Given the description of an element on the screen output the (x, y) to click on. 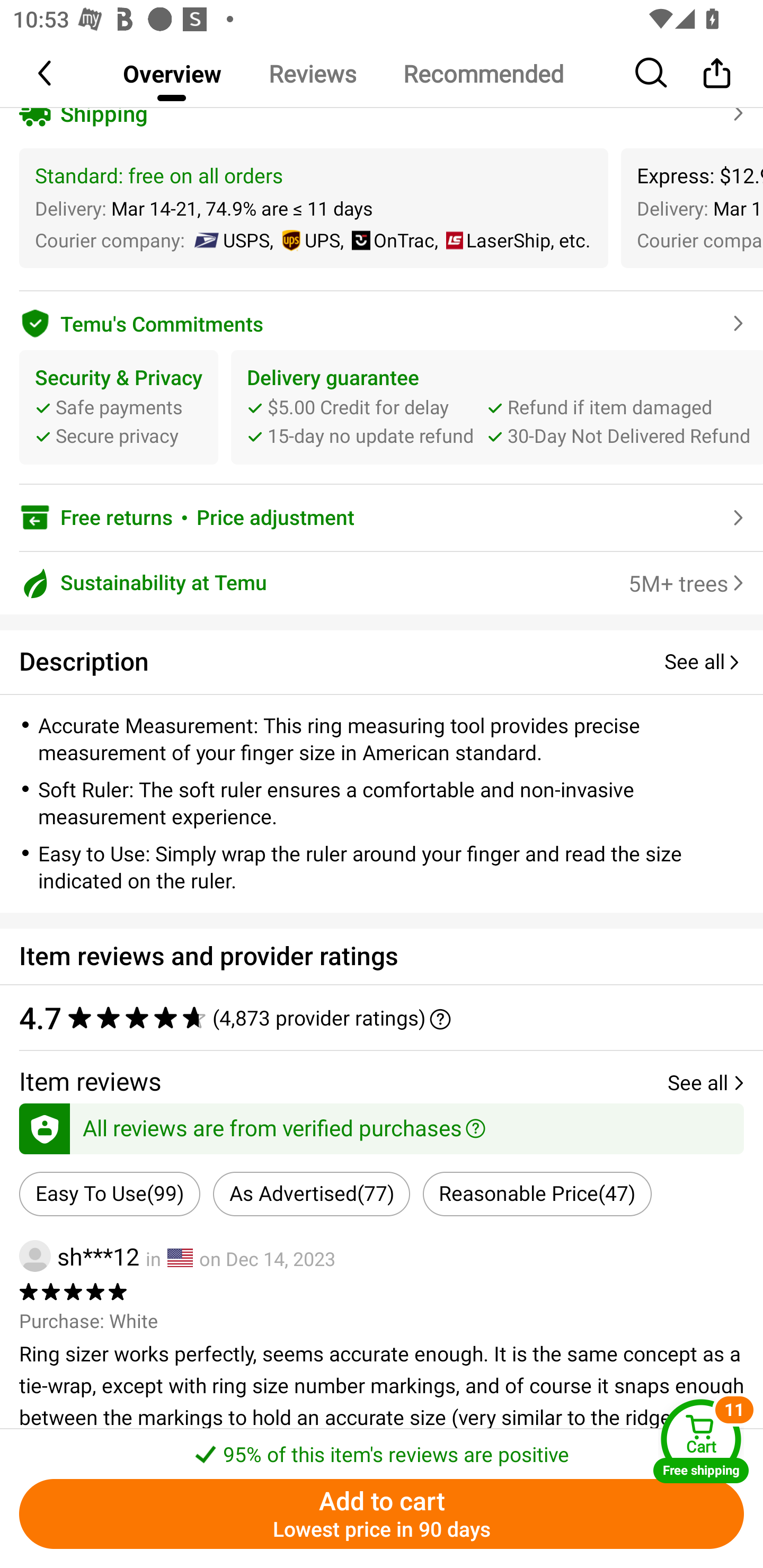
Overview (171, 72)
Reviews (311, 72)
Recommended (482, 72)
Back (46, 72)
Share (716, 72)
Shipping (381, 113)
Temu's Commitments (381, 320)
Security & Privacy Safe payments Secure privacy (118, 406)
Free returns￼Price adjustment (381, 517)
Sustainability at Temu 5M+ trees (381, 582)
See all  (703, 662)
4.7 ‪(4,873 provider ratings) (381, 1017)
All reviews are from verified purchases  (381, 1125)
Easy To Use(99) (109, 1193)
As Advertised(77) (311, 1193)
Reasonable Price(47) (536, 1193)
sh***12 (79, 1255)
Cart Free shipping Cart (701, 1440)
￼￼95% of this item's reviews are positive (381, 1448)
Add to cart Lowest price in 90 days (381, 1513)
